Given the description of an element on the screen output the (x, y) to click on. 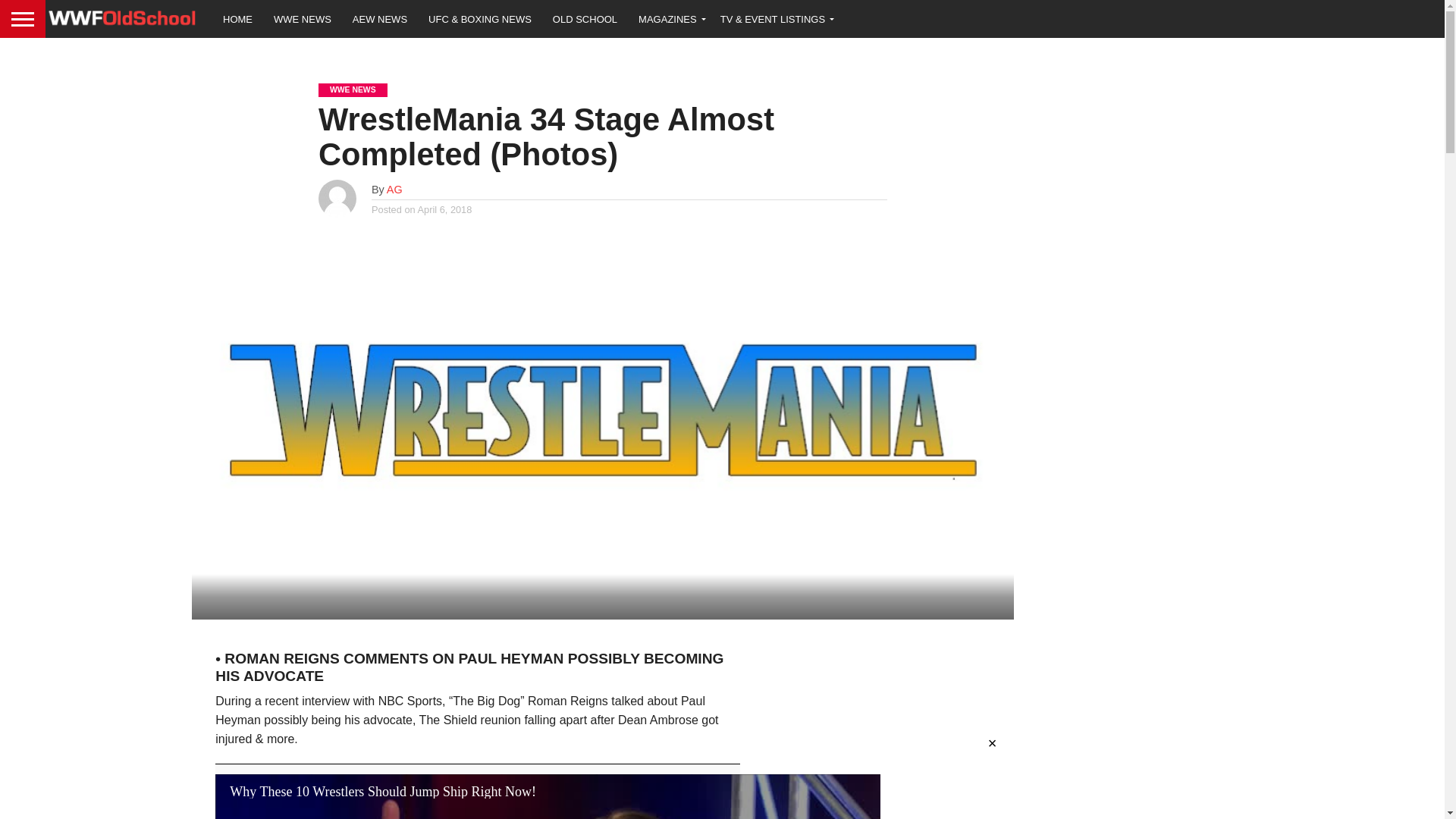
MAGAZINES (668, 18)
OLD SCHOOL (584, 18)
AEW NEWS (379, 18)
WWE NEWS (302, 18)
HOME (237, 18)
Posts by AG (395, 189)
